Given the description of an element on the screen output the (x, y) to click on. 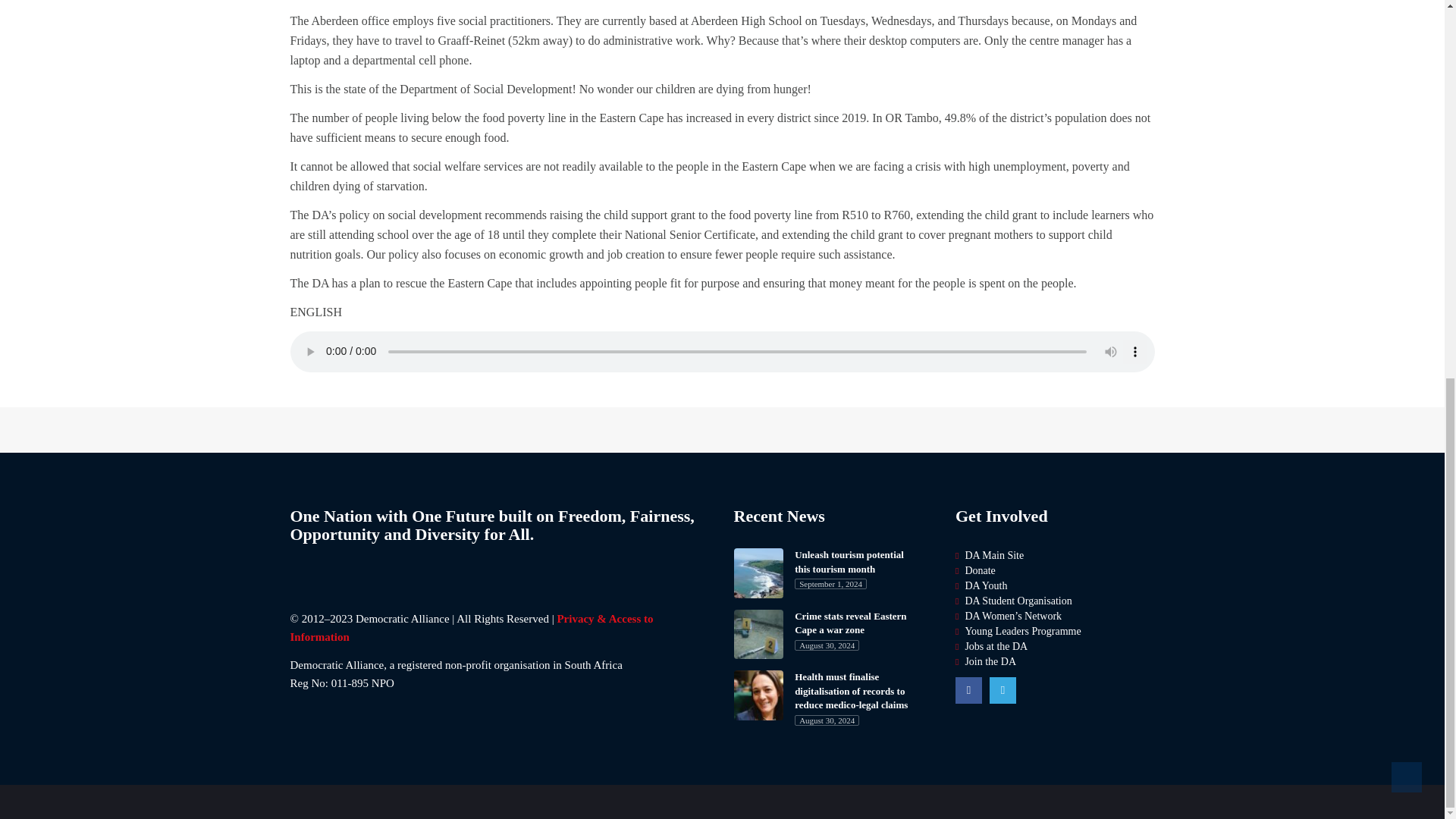
DA Student Organisation (1017, 600)
Unleash tourism potential this tourism month (857, 561)
Join the DA (989, 661)
Crime stats reveal Eastern Cape a war zone (857, 623)
DA Youth (985, 585)
Jobs at the DA (995, 645)
DA Main Site (993, 555)
Donate (978, 570)
Young Leaders Programme (1021, 631)
